Given the description of an element on the screen output the (x, y) to click on. 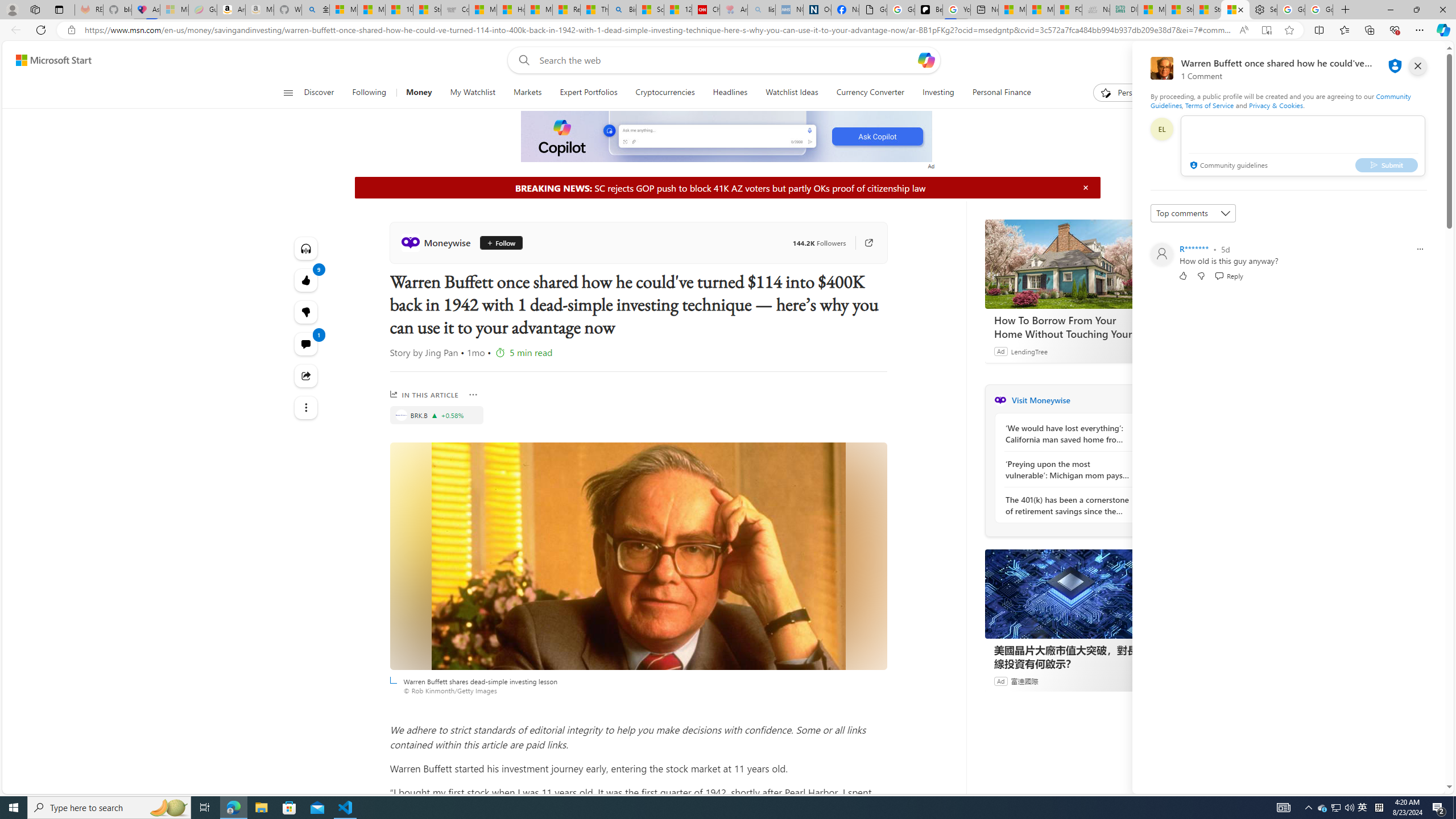
Discover (319, 92)
12 Popular Science Lies that Must be Corrected (678, 9)
Dislike (1200, 275)
How I Got Rid of Microsoft Edge's Unnecessary Features (510, 9)
How To Borrow From Your Home Without Touching Your Mortgage (1069, 326)
Markets (527, 92)
Navy Quest (1096, 9)
Follow (497, 242)
Moneywise (438, 242)
